Given the description of an element on the screen output the (x, y) to click on. 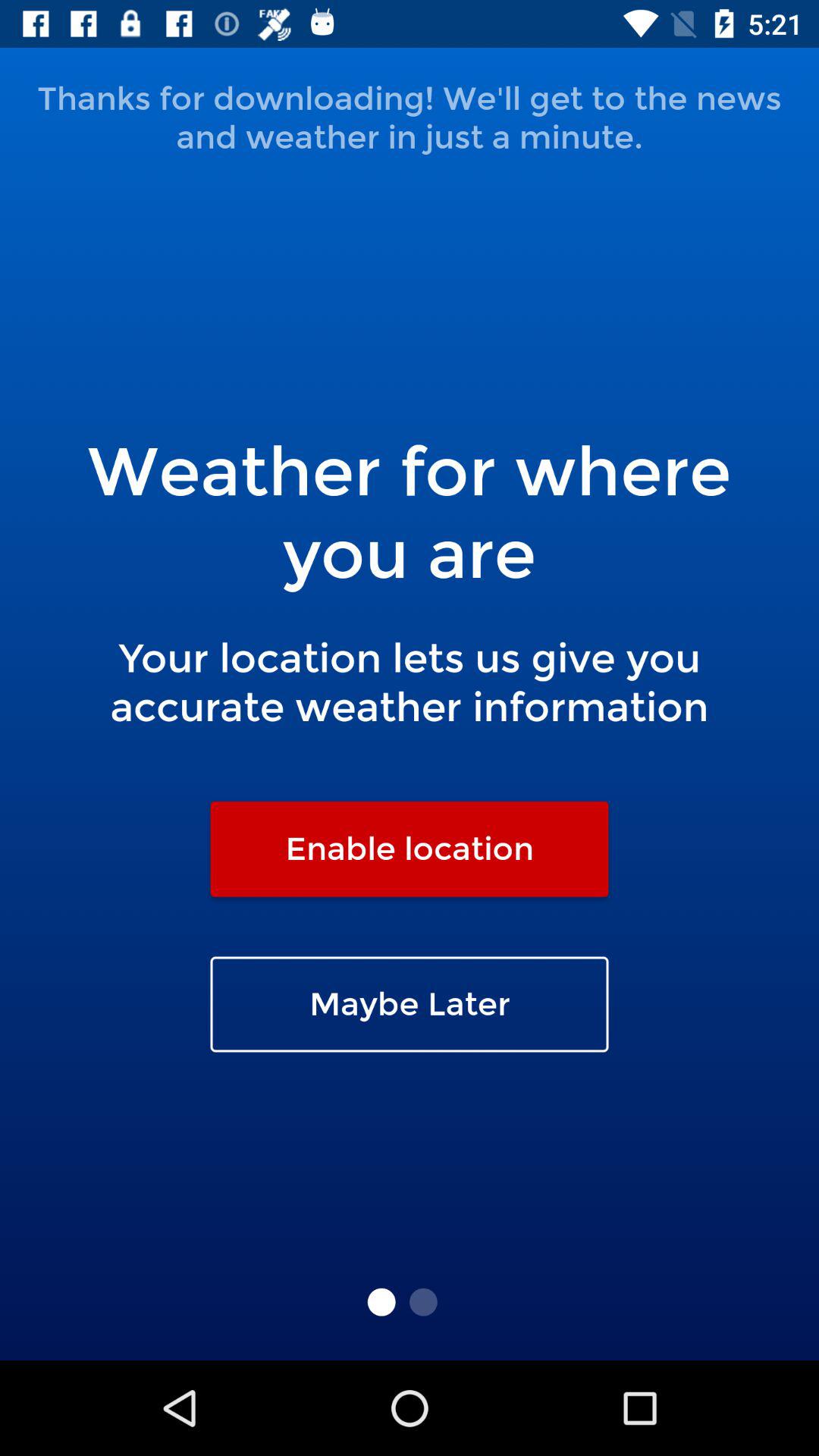
scroll until enable location icon (409, 848)
